Given the description of an element on the screen output the (x, y) to click on. 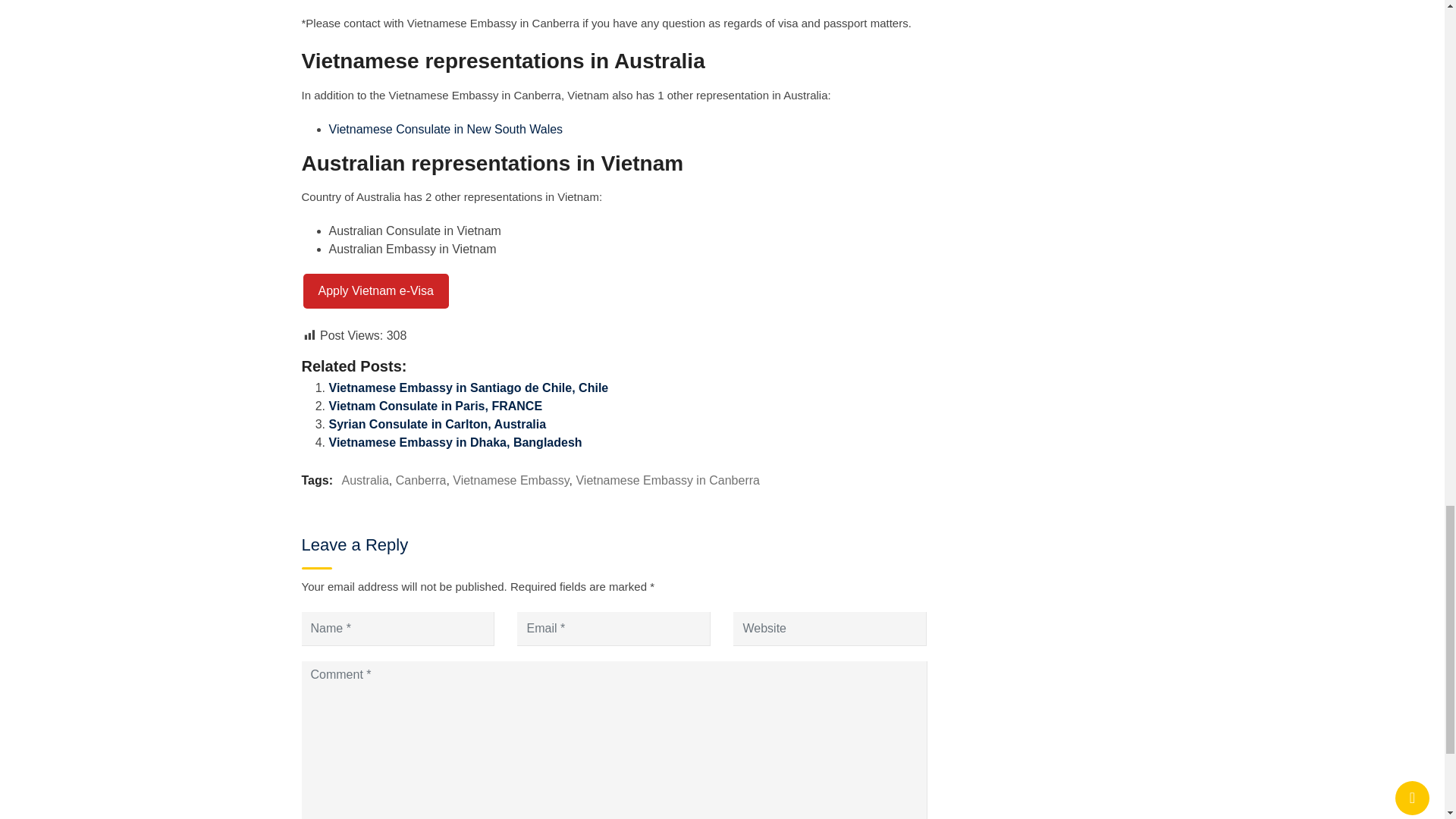
Vietnamese Embassy in Dhaka, Bangladesh (455, 441)
Australia (365, 480)
Vietnamese Embassy in Canberra (667, 480)
Vietnamese Consulate in New South Wales (446, 128)
Vietnam Consulate in Paris, FRANCE (436, 405)
Apply Vietnam e-Visa (375, 290)
Canberra (421, 480)
Vietnamese Embassy in Santiago de Chile, Chile (468, 387)
Syrian Consulate in Carlton, Australia (438, 423)
Vietnamese Embassy in Dhaka, Bangladesh (455, 441)
Vietnamese Embassy in Santiago de Chile, Chile (468, 387)
Vietnamese Embassy (510, 480)
Syrian Consulate in Carlton, Australia (438, 423)
Vietnam Consulate in Paris, FRANCE (436, 405)
